Given the description of an element on the screen output the (x, y) to click on. 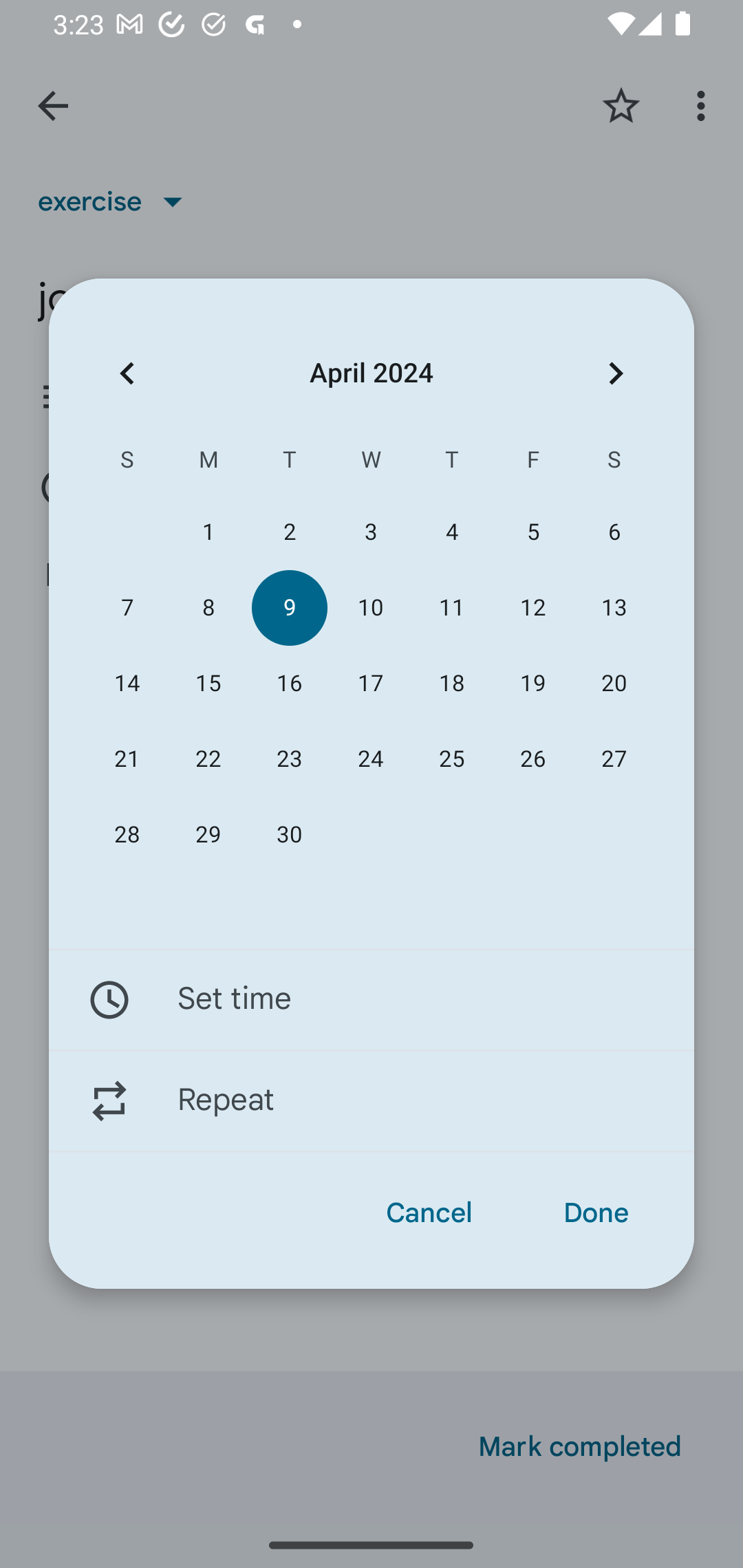
Previous month (126, 372)
Next month (615, 372)
1 01 April 2024 (207, 531)
2 02 April 2024 (288, 531)
3 03 April 2024 (370, 531)
4 04 April 2024 (451, 531)
5 05 April 2024 (532, 531)
6 06 April 2024 (613, 531)
7 07 April 2024 (126, 608)
8 08 April 2024 (207, 608)
9 09 April 2024 (288, 608)
10 10 April 2024 (370, 608)
11 11 April 2024 (451, 608)
12 12 April 2024 (532, 608)
13 13 April 2024 (613, 608)
14 14 April 2024 (126, 683)
15 15 April 2024 (207, 683)
16 16 April 2024 (288, 683)
17 17 April 2024 (370, 683)
18 18 April 2024 (451, 683)
19 19 April 2024 (532, 683)
20 20 April 2024 (613, 683)
21 21 April 2024 (126, 758)
22 22 April 2024 (207, 758)
23 23 April 2024 (288, 758)
24 24 April 2024 (370, 758)
25 25 April 2024 (451, 758)
26 26 April 2024 (532, 758)
27 27 April 2024 (613, 758)
28 28 April 2024 (126, 834)
29 29 April 2024 (207, 834)
30 30 April 2024 (288, 834)
Set time (371, 999)
Repeat (371, 1101)
Cancel (429, 1213)
Done (595, 1213)
